Given the description of an element on the screen output the (x, y) to click on. 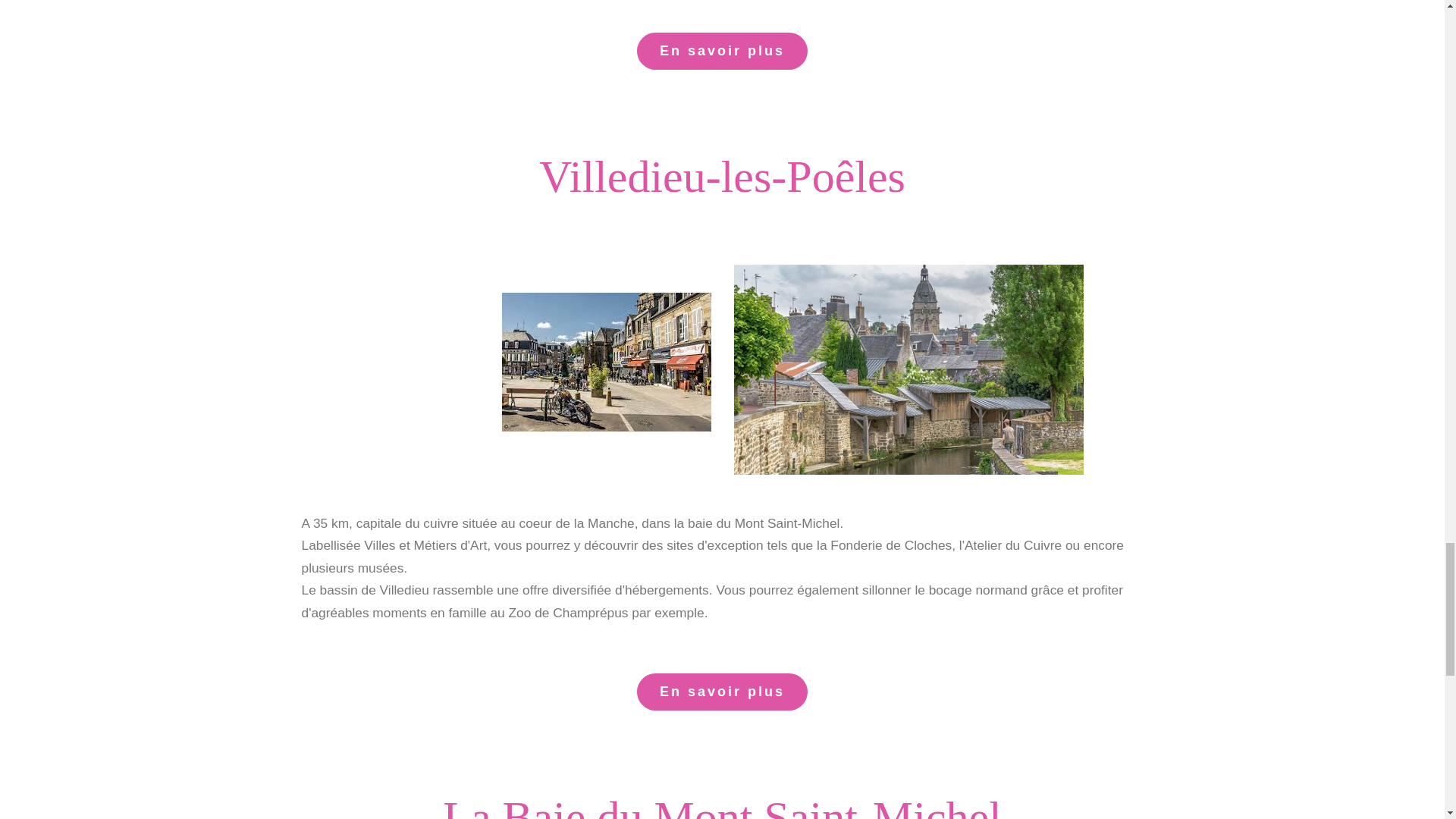
En savoir plus (722, 50)
En savoir plus (722, 691)
